Given the description of an element on the screen output the (x, y) to click on. 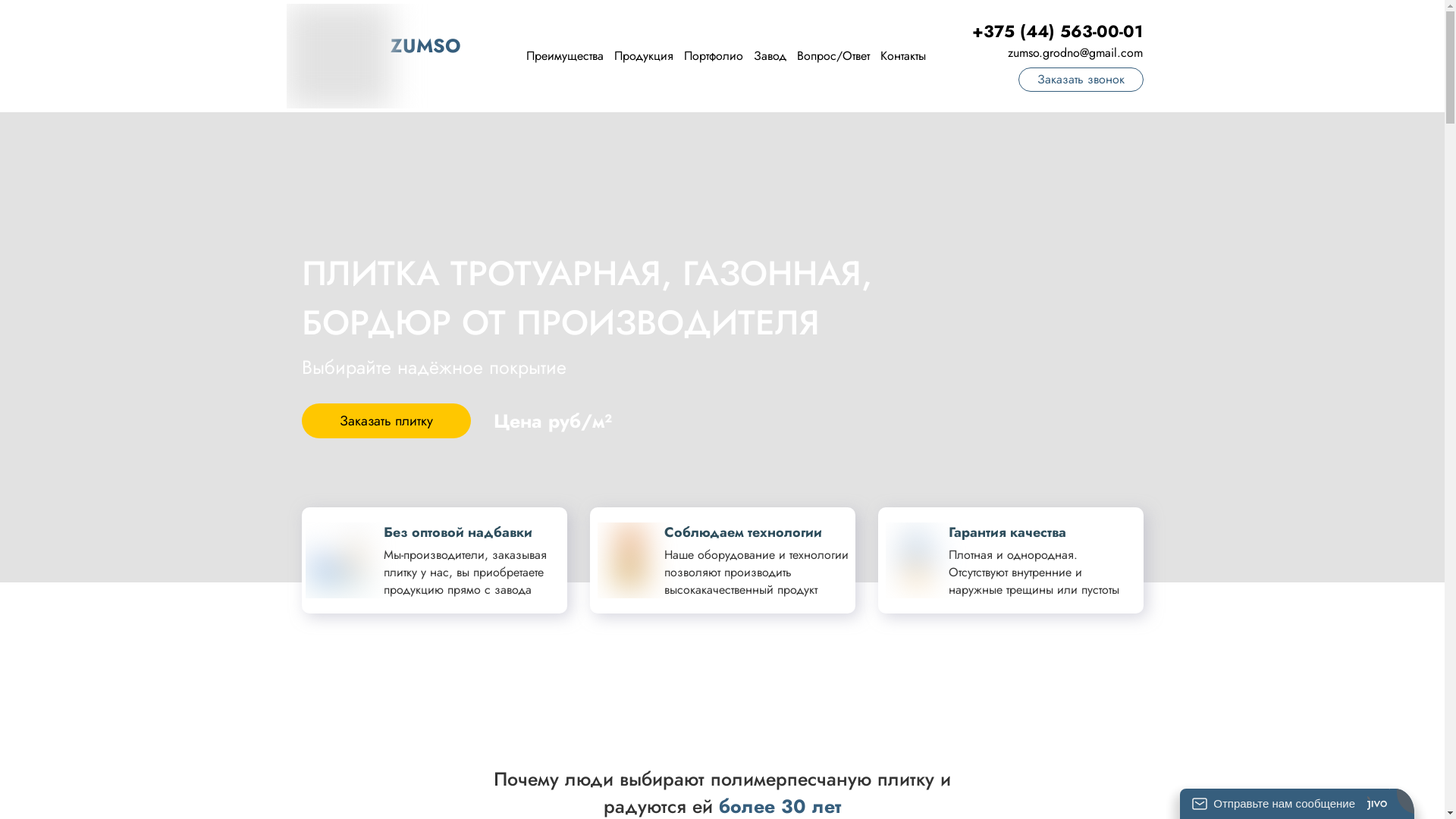
ZUMSO Element type: text (425, 45)
+375 (44) 563-00-01 Element type: text (1056, 31)
zumso.grodno@gmail.com Element type: text (1075, 52)
